Given the description of an element on the screen output the (x, y) to click on. 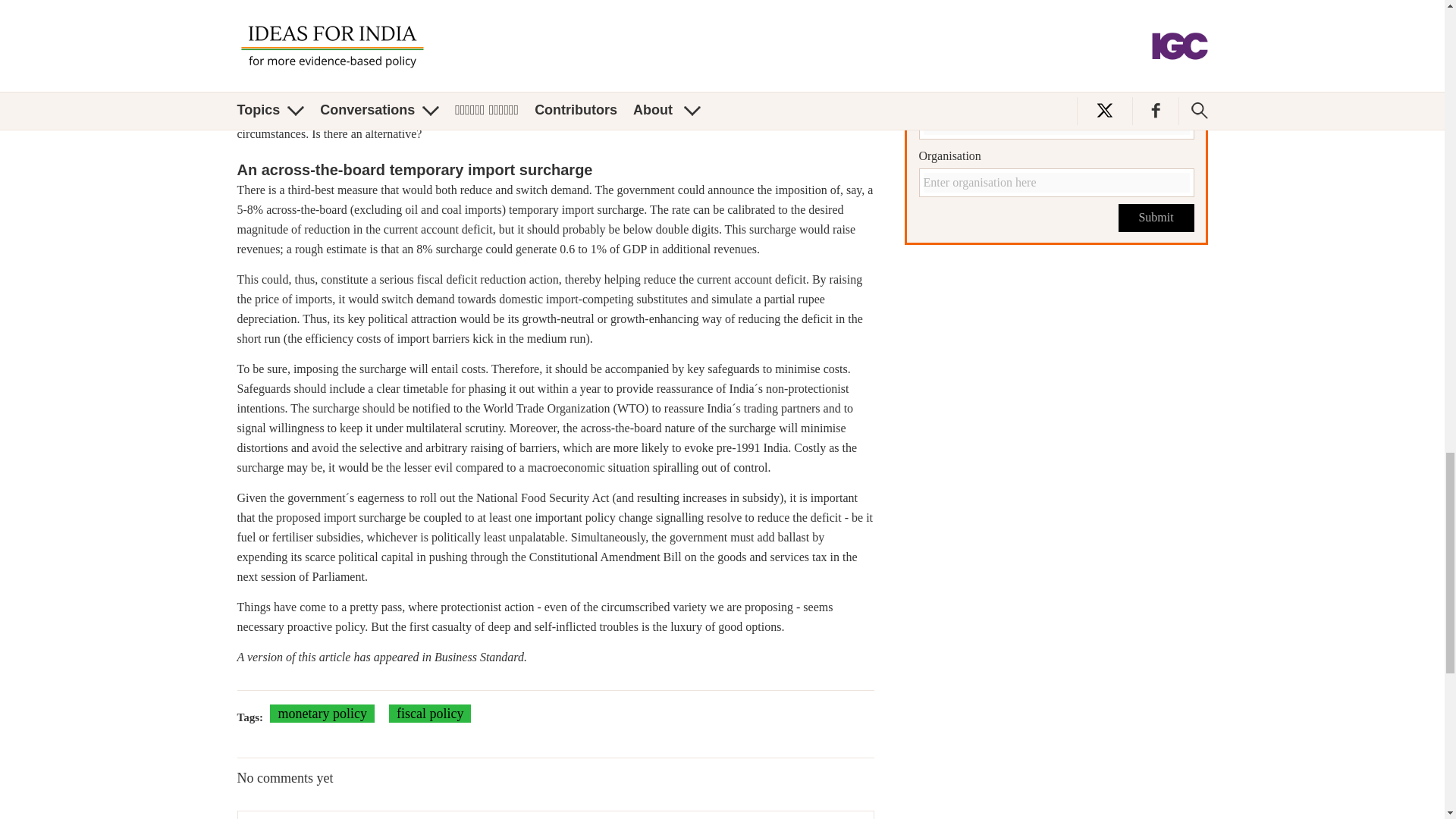
Submit (1155, 217)
Submit (1155, 217)
